Given the description of an element on the screen output the (x, y) to click on. 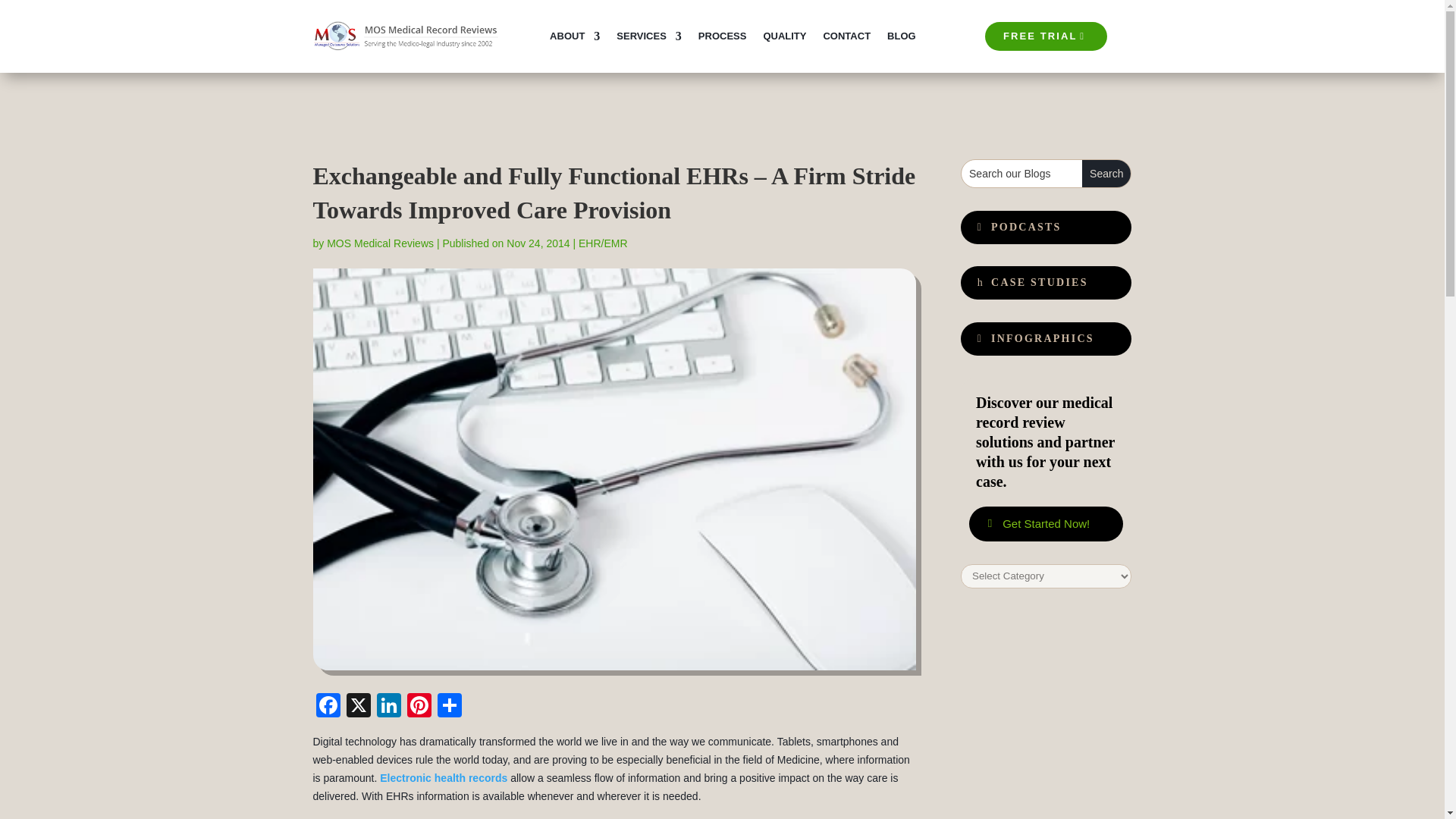
Electronic Health Records (443, 777)
Posts by MOS Medical Reviews (379, 243)
Facebook (327, 706)
Search (1106, 173)
Search (1106, 173)
Pinterest (418, 706)
LinkedIn (387, 706)
SERVICES (648, 36)
